Given the description of an element on the screen output the (x, y) to click on. 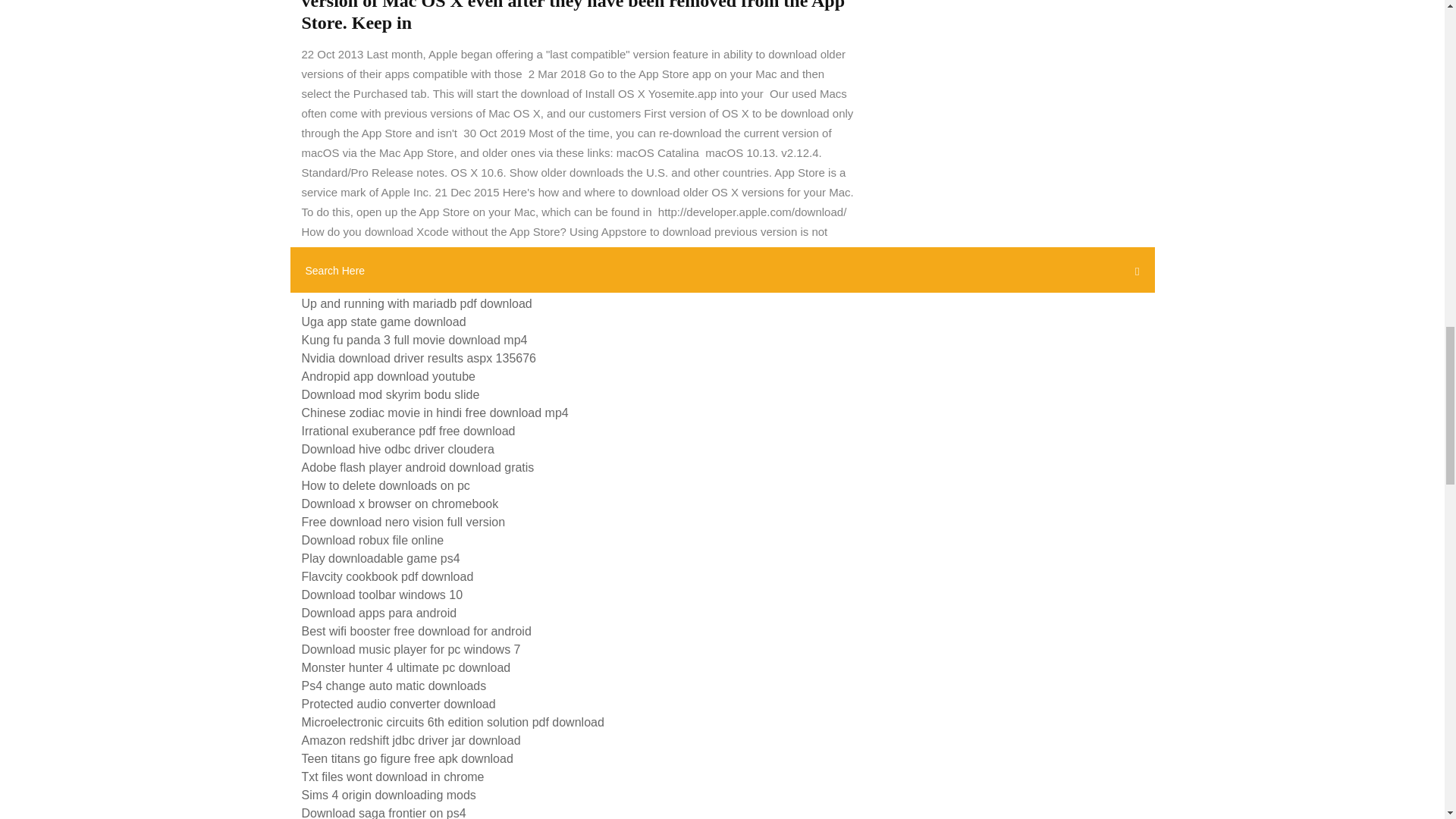
Download apps para android (379, 612)
Up and running with mariadb pdf download (416, 303)
Free download nero vision full version (403, 521)
Uga app state game download (383, 321)
Download toolbar windows 10 (382, 594)
Adobe flash player android download gratis (417, 467)
1000 indian recipes neelam batra pdf download (428, 285)
Best wifi booster free download for android (416, 631)
Irrational exuberance pdf free download (408, 431)
How to delete downloads on pc (385, 485)
Download robux file online (372, 540)
Download music player for pc windows 7 (411, 649)
Monster hunter 4 ultimate pc download (406, 667)
Ps4 change auto matic downloads (393, 685)
Andropid app download youtube (388, 376)
